Given the description of an element on the screen output the (x, y) to click on. 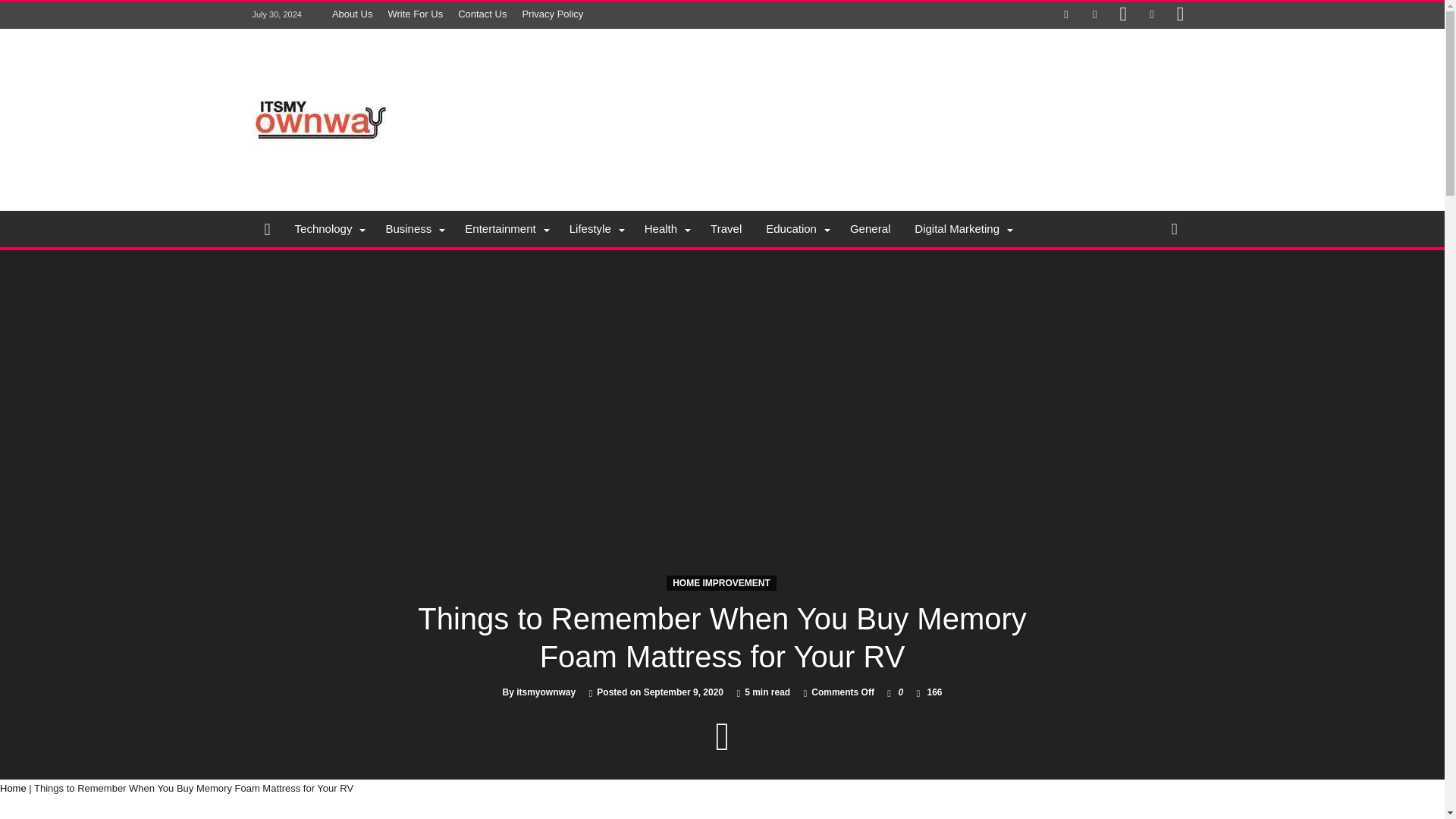
Contact Us (481, 14)
Entertainment (504, 228)
Health (664, 228)
LinkedIn (1151, 15)
Travel (726, 228)
Itsmyownway (319, 50)
Business (412, 228)
Education (796, 228)
Facebook (1066, 15)
Privacy Policy (552, 14)
Write For Us (414, 14)
instagram (1179, 15)
Lifestyle (594, 228)
Technology (328, 228)
I like this article (888, 692)
